Given the description of an element on the screen output the (x, y) to click on. 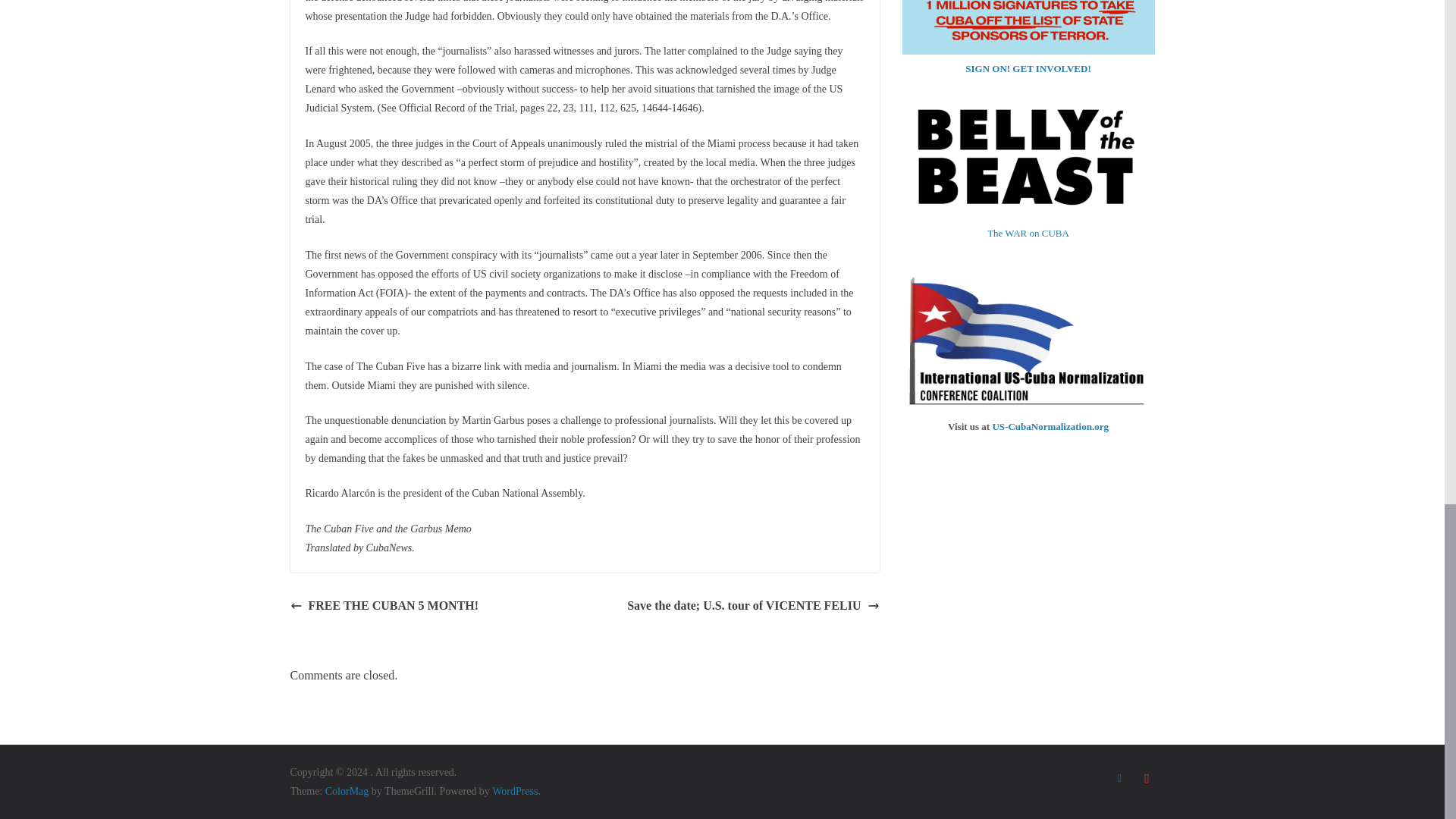
ColorMag (346, 790)
US-CubaNormalization.org (1049, 426)
Save the date; U.S. tour of VICENTE FELIU (753, 606)
FREE THE CUBAN 5 MONTH! (384, 606)
WordPress (514, 790)
WordPress (514, 790)
SIGN ON! GET INVOLVED! (1027, 68)
ColorMag (346, 790)
The WAR on CUBA (1027, 232)
